Given the description of an element on the screen output the (x, y) to click on. 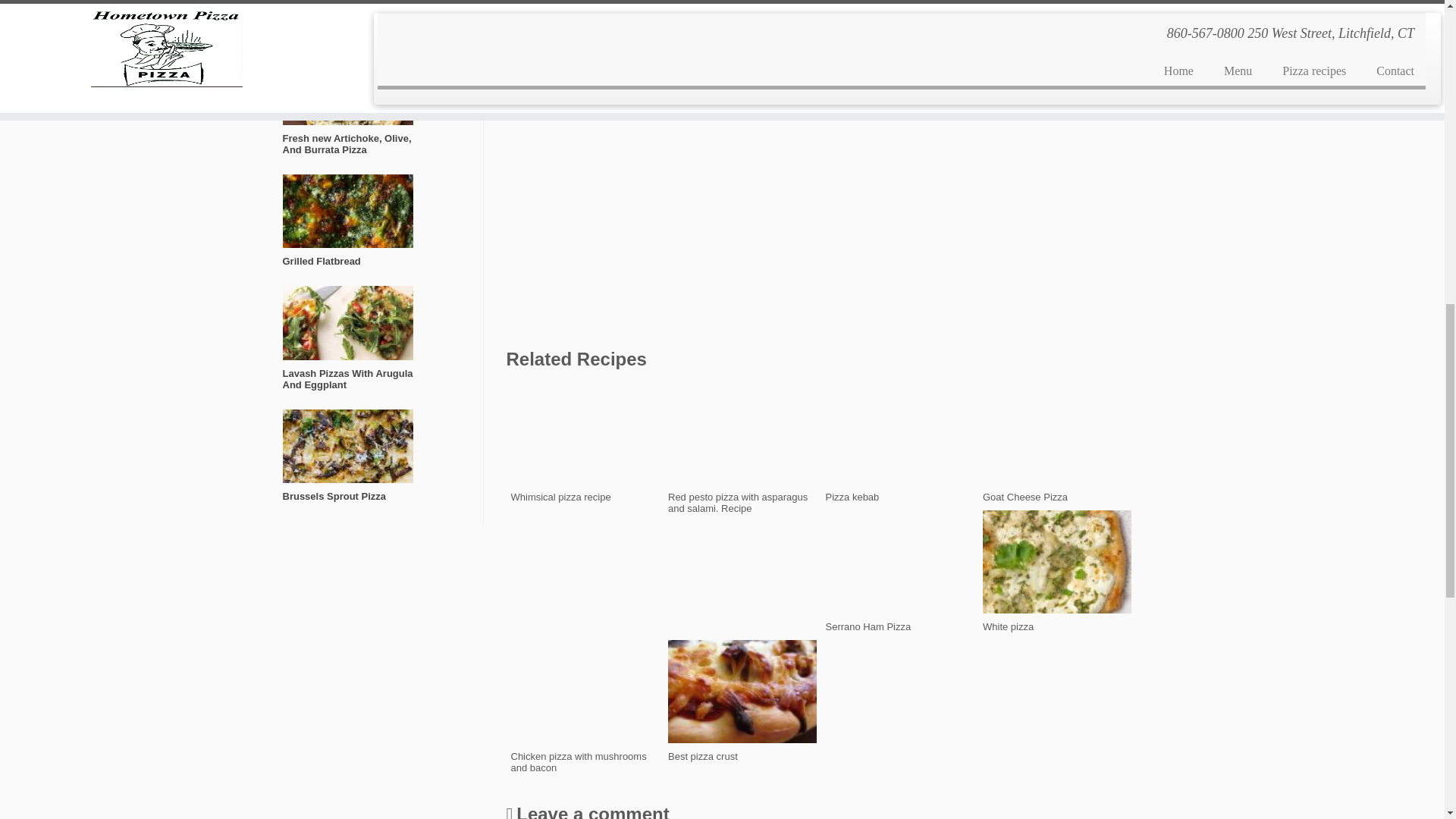
Whimsical pizza recipe (585, 441)
Pizza kebab (899, 441)
Grilled Flatbread (347, 226)
Best pizza crust (347, 22)
Serrano Ham Pizza (899, 571)
Chicken pizza with mushrooms and bacon (585, 706)
Lavash Pizzas With Arugula And Eggplant (347, 343)
Goat Cheese Pizza (1056, 441)
Brussels Sprout Pizza (347, 461)
